Given the description of an element on the screen output the (x, y) to click on. 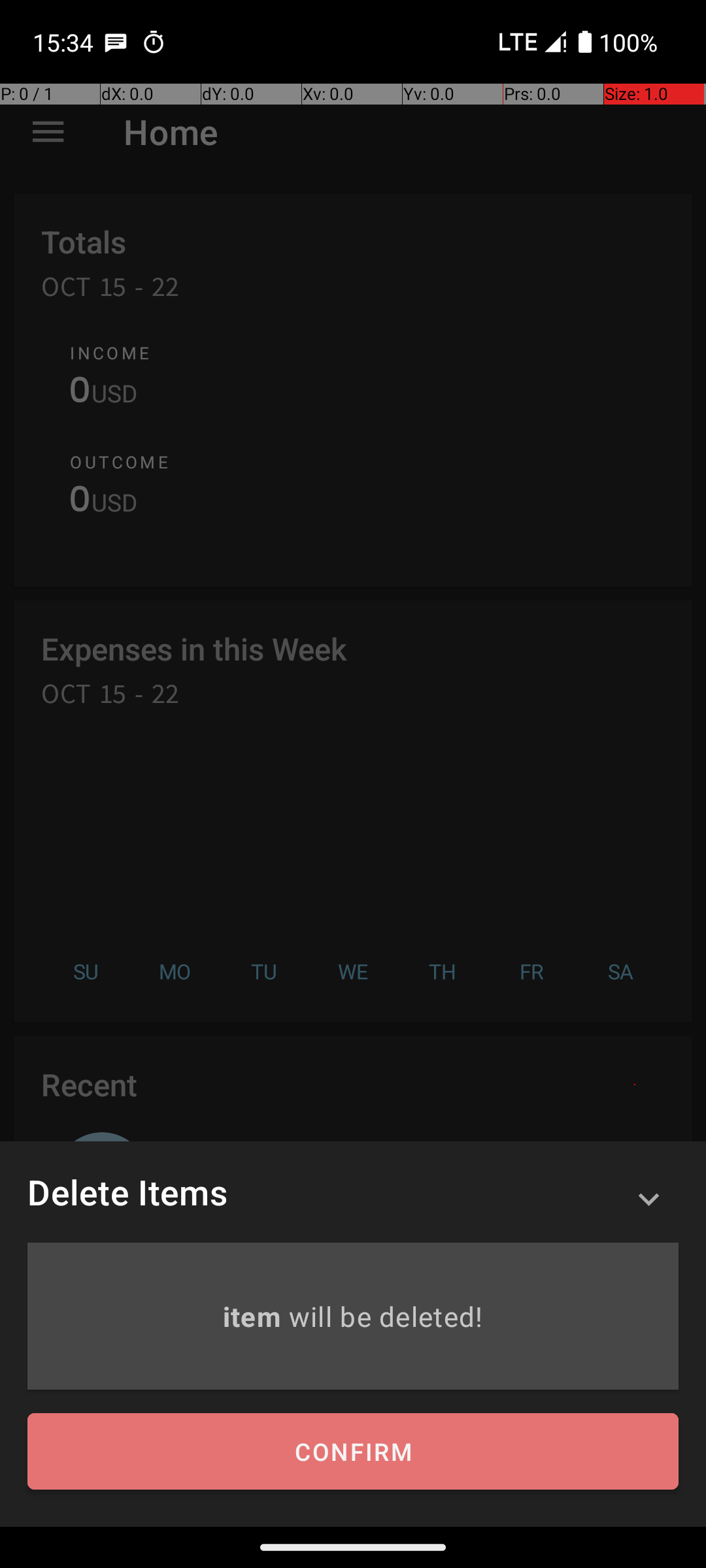
SMS Messenger notification: +15785288010 Element type: android.widget.ImageView (115, 41)
